Given the description of an element on the screen output the (x, y) to click on. 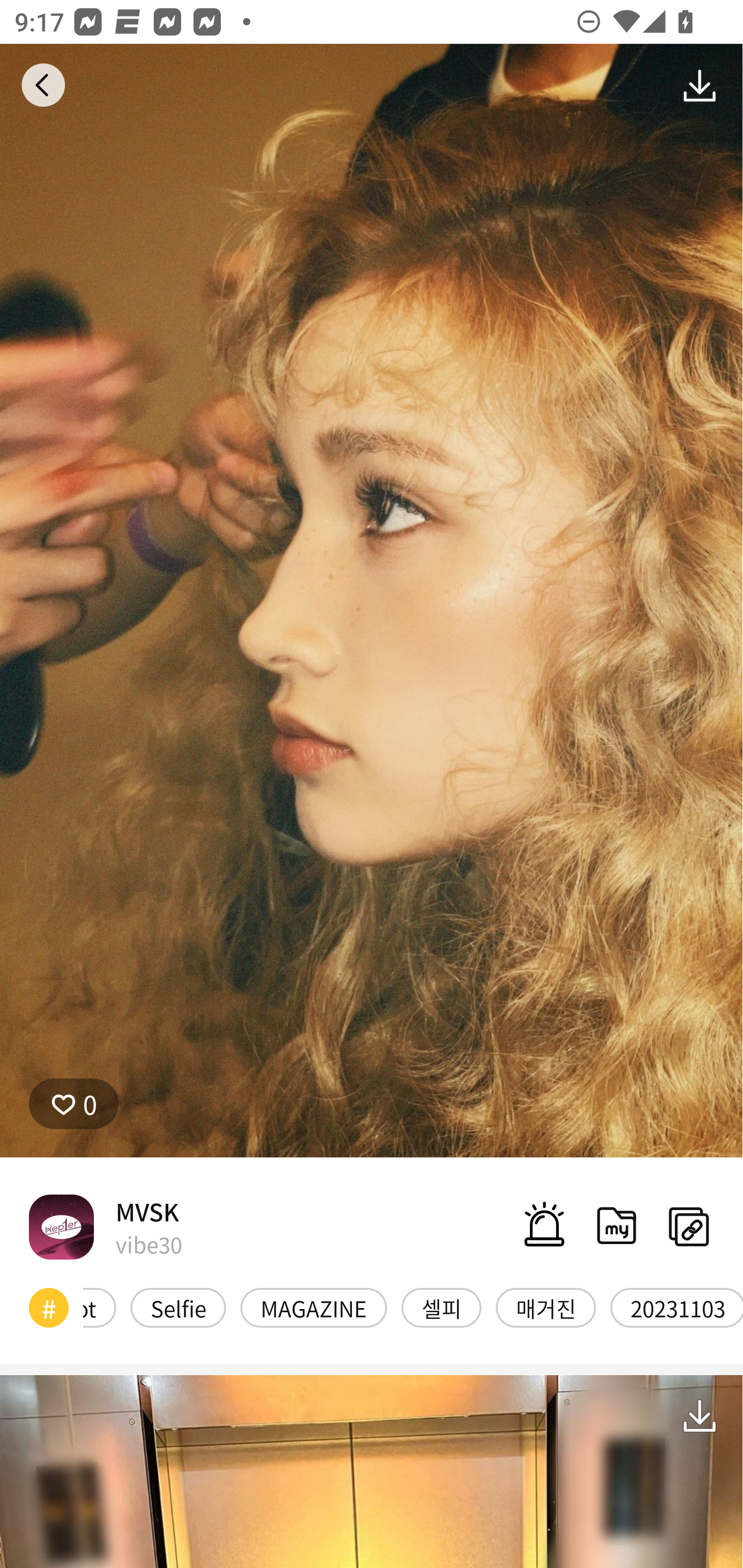
0 (73, 1102)
MVSK vibe30 (105, 1226)
Selfie (177, 1307)
MAGAZINE (313, 1307)
셀피 (441, 1307)
매거진 (545, 1307)
20231103 (676, 1307)
